Given the description of an element on the screen output the (x, y) to click on. 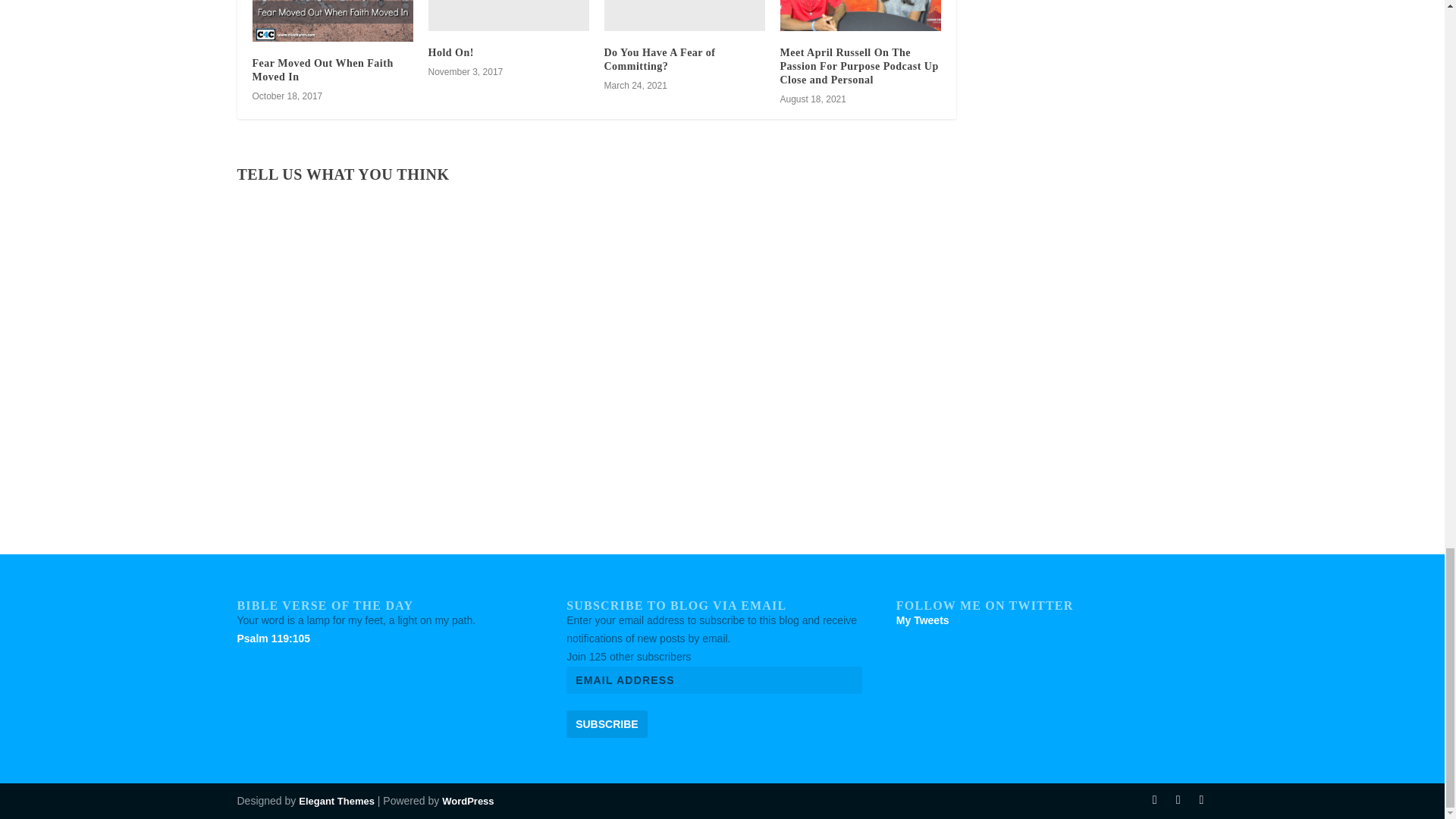
Hold On! (450, 52)
Do You Have A Fear of Committing? (659, 59)
Fear Moved Out When Faith Moved In (322, 69)
